Given the description of an element on the screen output the (x, y) to click on. 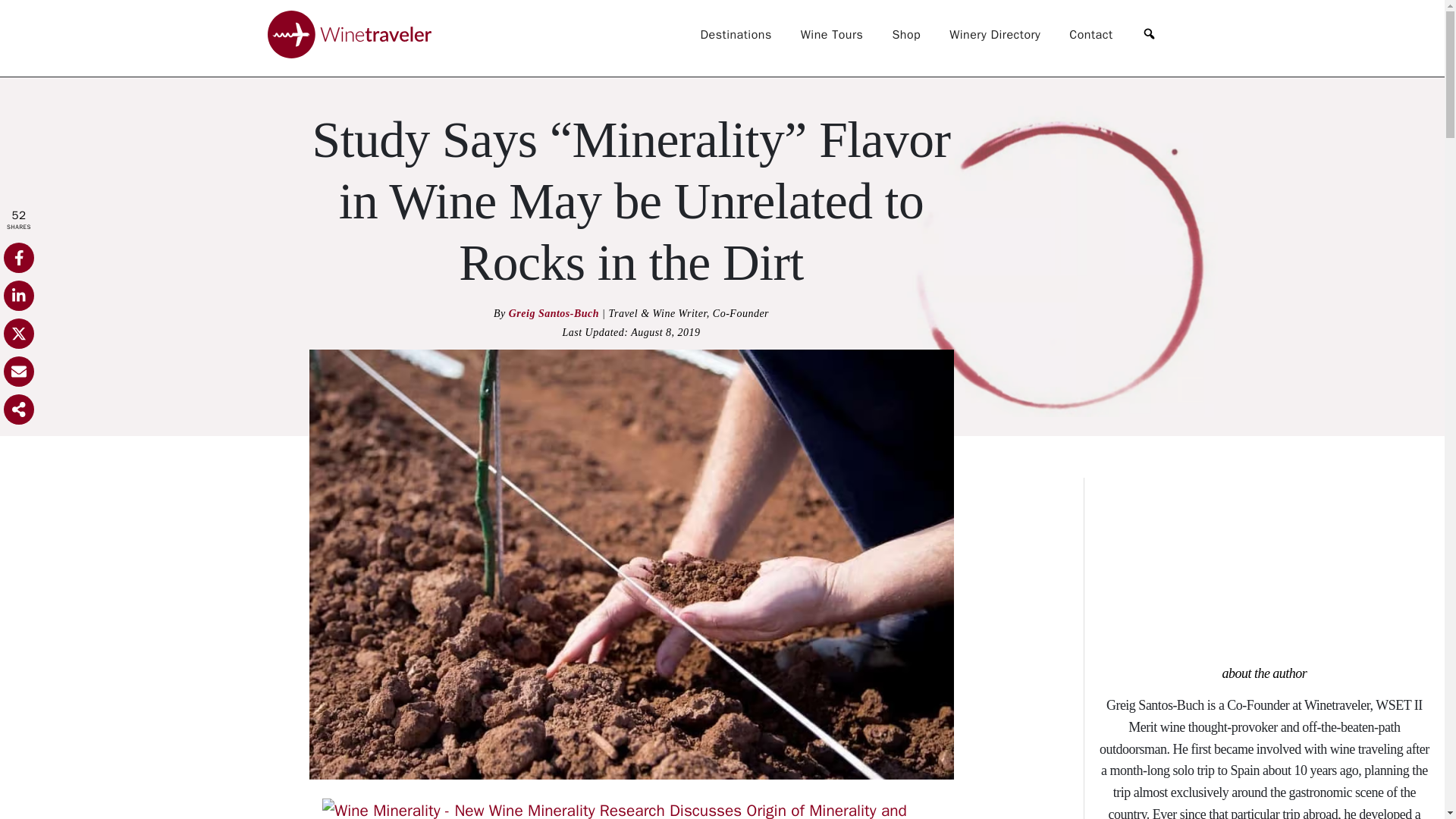
Wine Tours (831, 34)
Winery Directory (995, 34)
Greig Santos-Buch (555, 313)
Destinations (735, 34)
Shop (905, 34)
Search (1148, 34)
Contact (1090, 34)
